Given the description of an element on the screen output the (x, y) to click on. 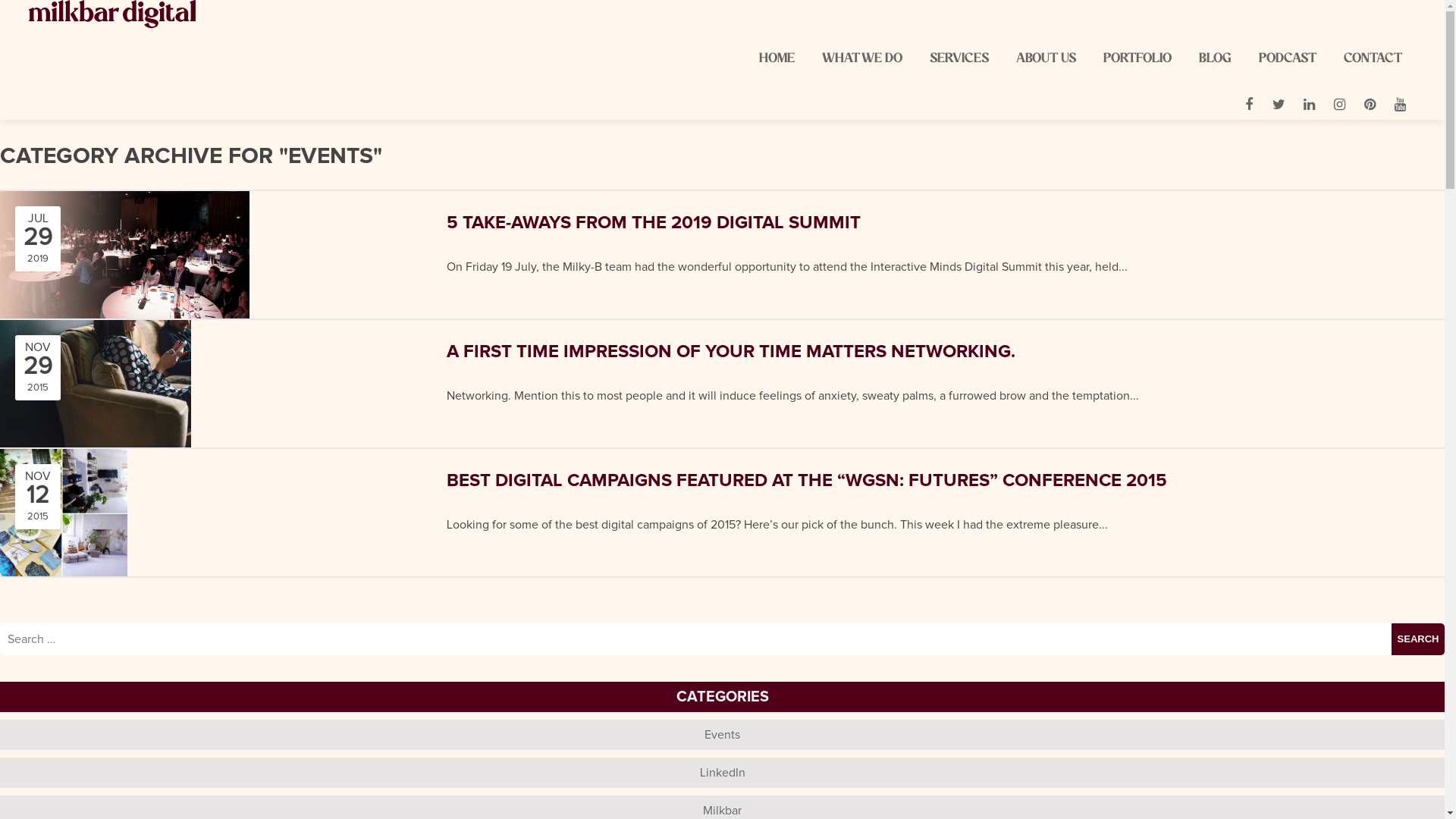
PODCAST Element type: text (1287, 58)
Milkbar Element type: text (721, 810)
WHAT WE DO Element type: text (862, 58)
CONTACT Element type: text (1372, 58)
hello@milkbardigital.com.au Element type: text (98, 702)
ABOUT US Element type: text (1045, 58)
Search Element type: text (1417, 639)
Introducing the New Milkbar Digital Element type: text (106, 508)
1300 MILKY B Element type: text (60, 671)
BLOG Element type: text (1215, 58)
SERVICES Element type: text (959, 58)
PORTFOLIO Element type: text (1137, 58)
OK! Element type: text (1415, 390)
LinkedIn Element type: text (721, 772)
A FIRST TIME IMPRESSION OF YOUR TIME MATTERS NETWORKING. Element type: text (700, 342)
Engineering Engaging Videos Element type: text (92, 572)
Events Element type: text (722, 734)
HOME Element type: text (776, 58)
5 TAKE-AWAYS FROM THE 2019 DIGITAL SUMMIT Element type: text (700, 213)
